Given the description of an element on the screen output the (x, y) to click on. 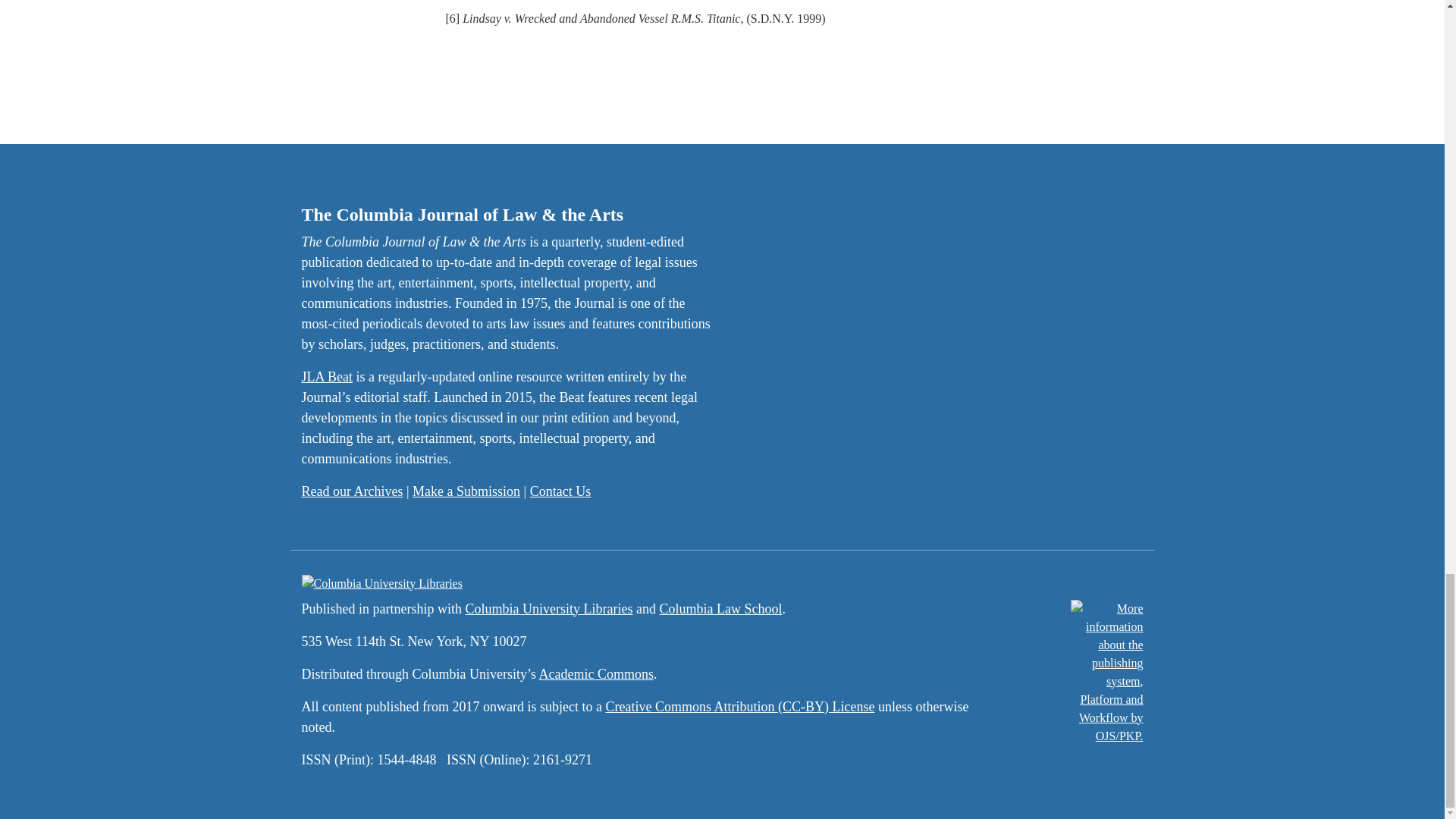
Read our Archives (352, 491)
Columbia University Libraries (547, 608)
Make a Submission (465, 491)
Academic Commons (595, 673)
Columbia Law School (720, 608)
Contact Us (560, 491)
JLA Beat (327, 376)
